Given the description of an element on the screen output the (x, y) to click on. 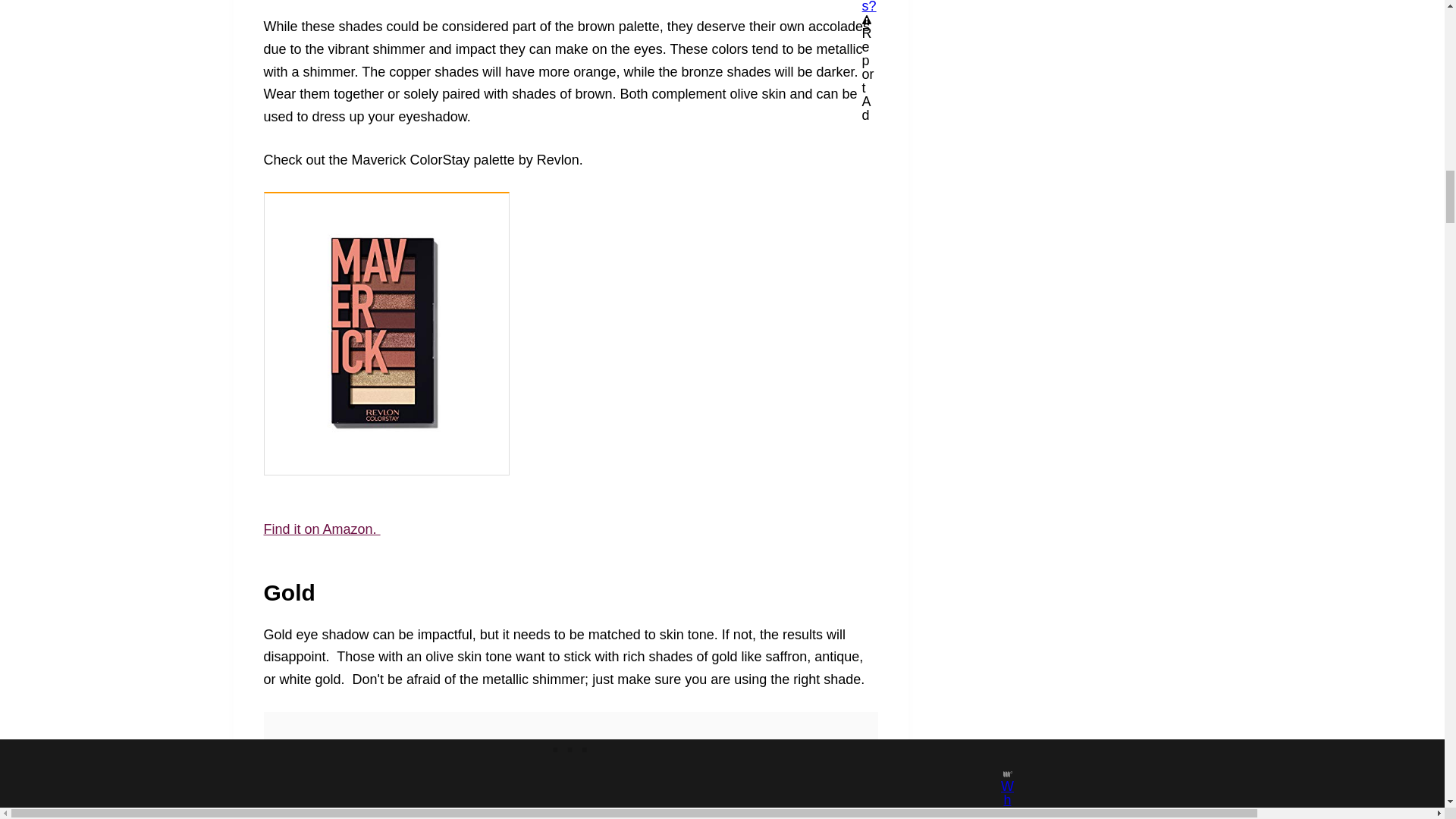
3rd party ad content (571, 745)
Find it on Amazon.  (321, 529)
